Given the description of an element on the screen output the (x, y) to click on. 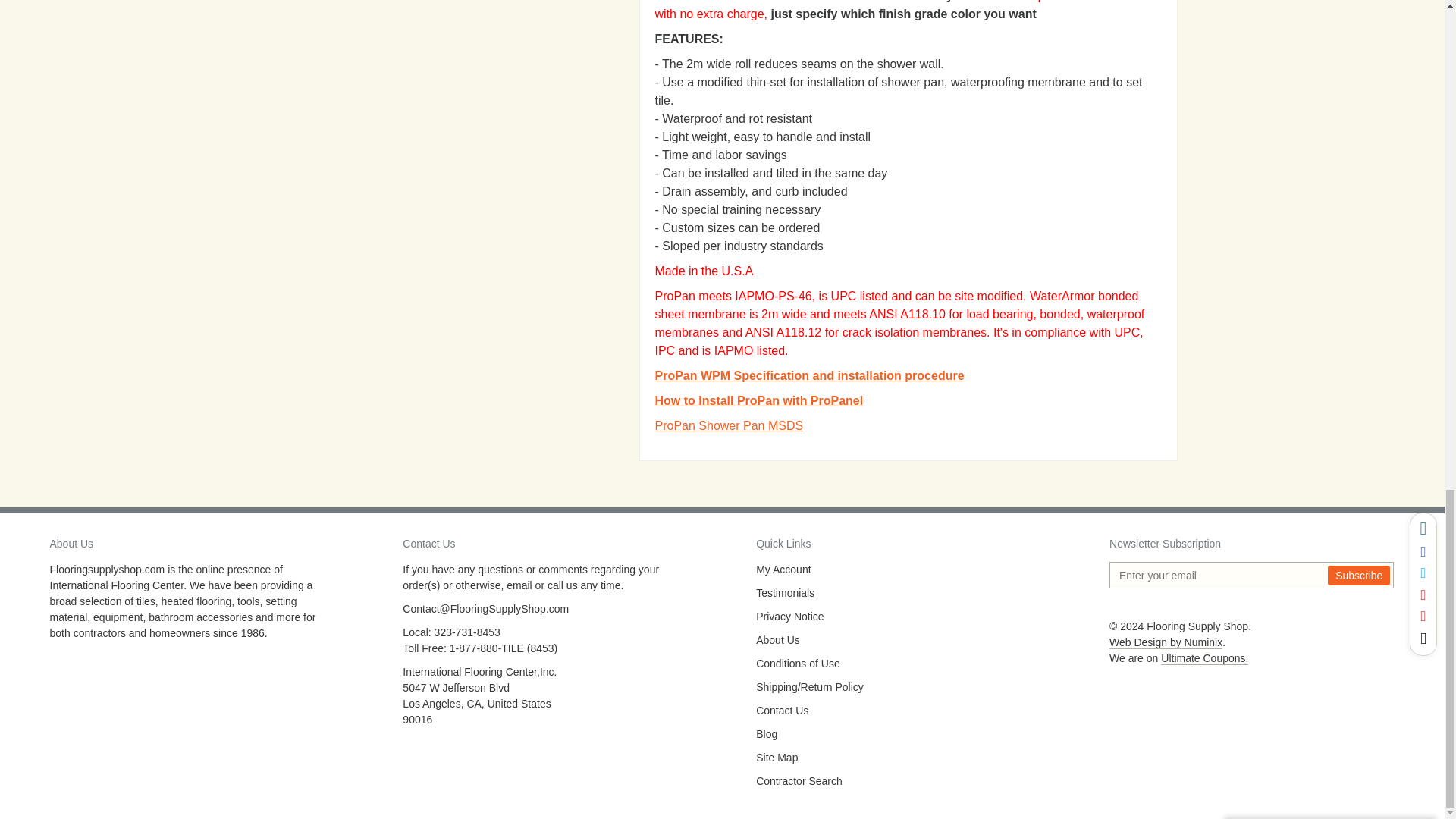
ProPan WPM Specification and installation procedure  (809, 375)
Flooring Supply Shop coupons (1203, 658)
ProPan Ready to Tile Shower Pan MSDS (729, 425)
ProPan with ProPanel Installation Instructions (759, 400)
